Given the description of an element on the screen output the (x, y) to click on. 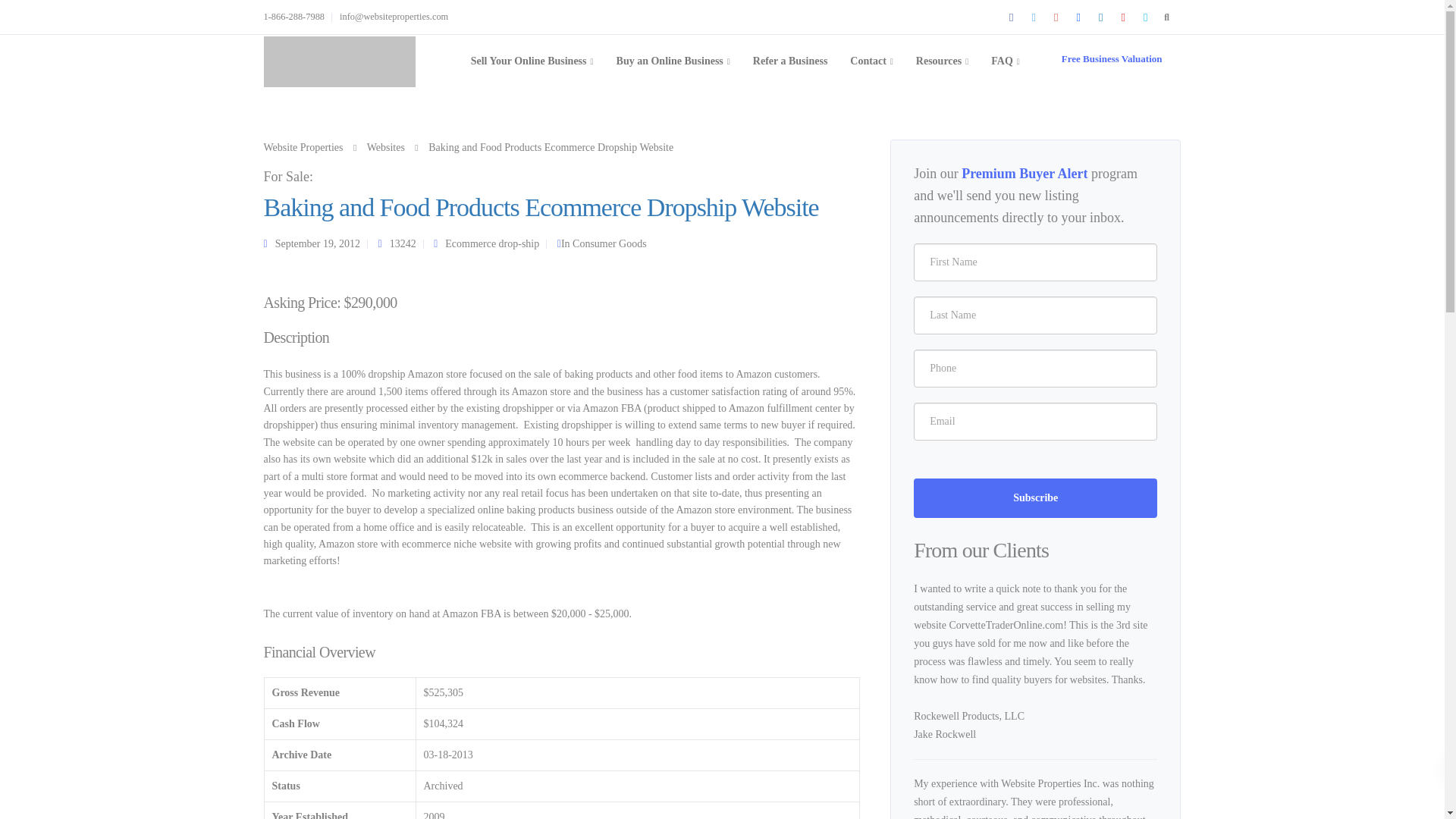
Website Properties (303, 147)
Buy an Online Business (673, 60)
Sell Your Online Business (532, 60)
Free Business Valuation (1111, 58)
Contact (871, 60)
Sell Your Online Business (532, 60)
1-866-288-7988 (298, 16)
Websites (385, 147)
FAQ (1004, 60)
Buy an Online Business (673, 60)
Refer a Business (790, 60)
Resources (941, 60)
